Given the description of an element on the screen output the (x, y) to click on. 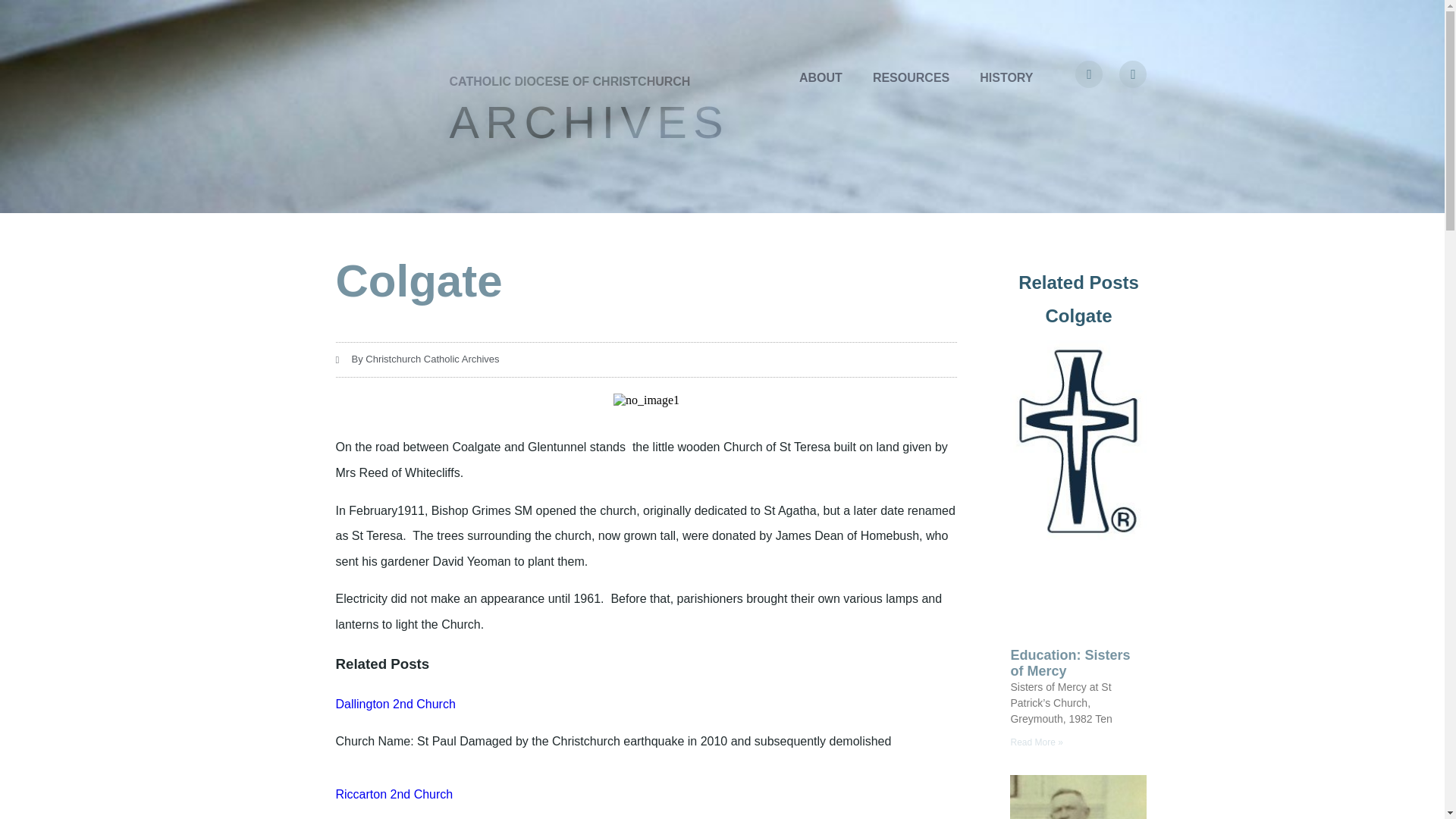
ARCHIVES (588, 122)
ABOUT (820, 77)
HISTORY (1005, 77)
CATHOLIC DIOCESE OF CHRISTCHURCH (569, 81)
RESOURCES (910, 77)
